Given the description of an element on the screen output the (x, y) to click on. 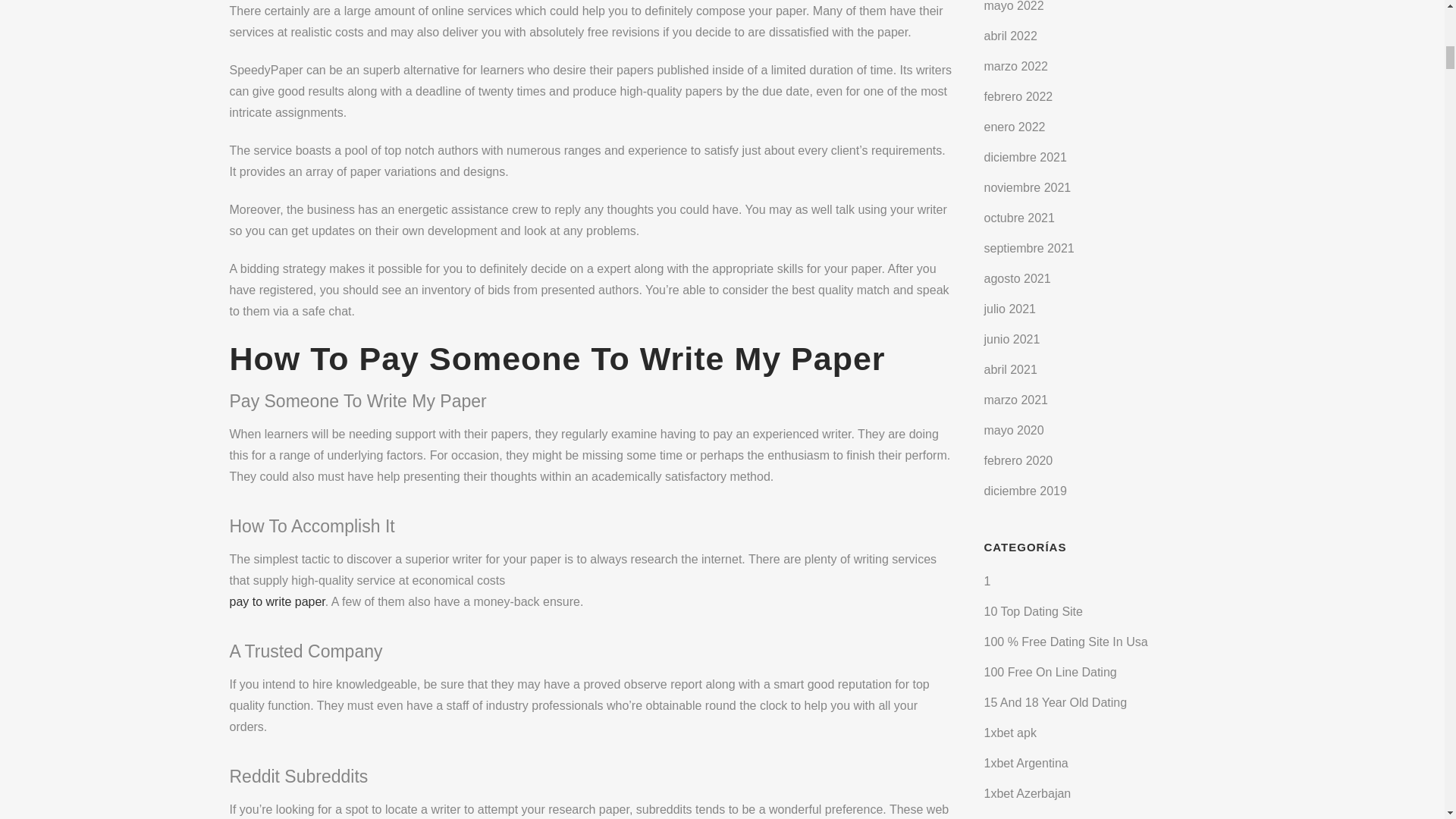
pay to write paper (276, 601)
